Given the description of an element on the screen output the (x, y) to click on. 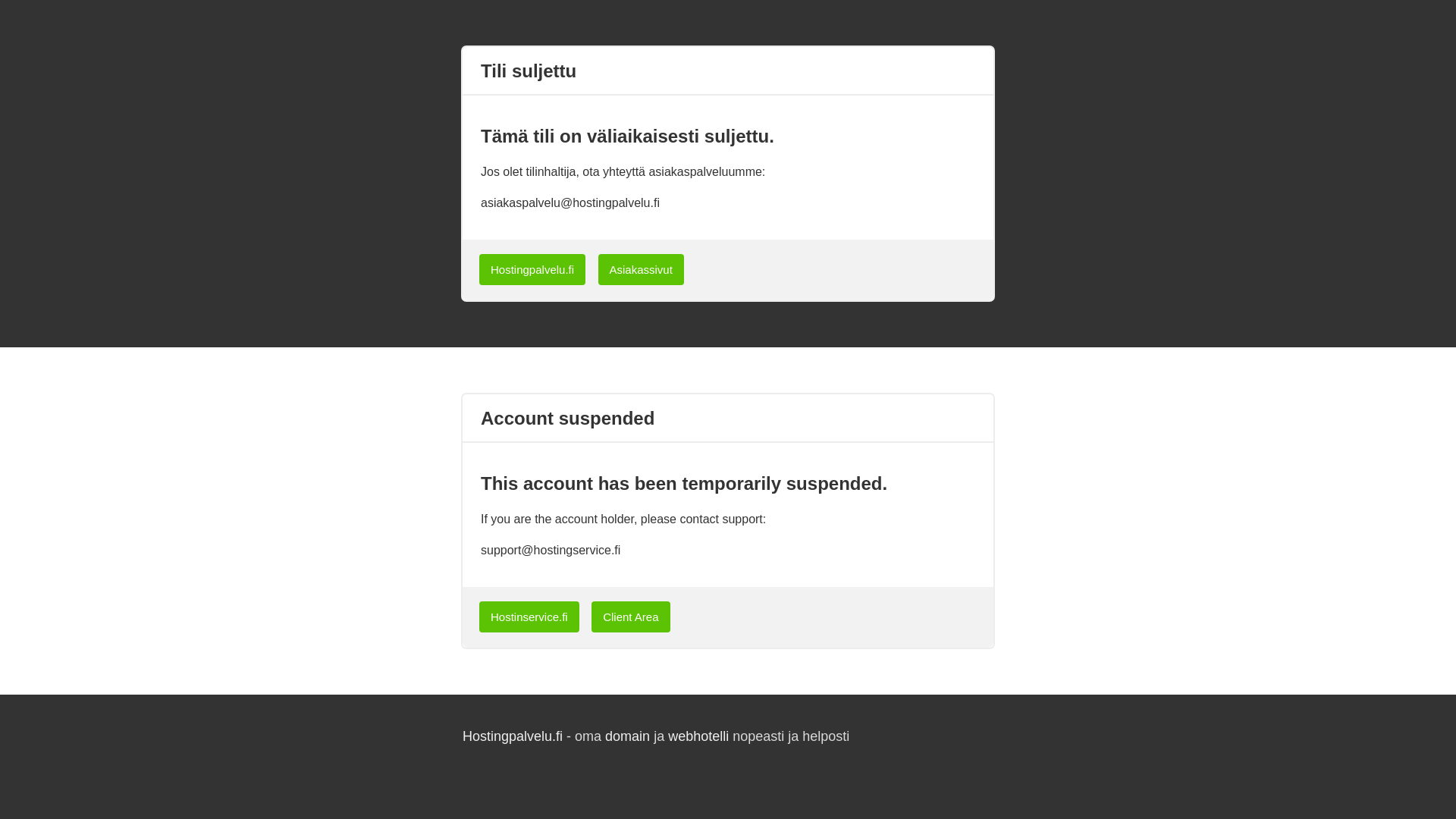
Client Area (630, 616)
domain (627, 735)
Client Area (630, 616)
Asiakassivut (641, 269)
Hostinservice.fi (528, 616)
Hostingpalvelu.fi (531, 269)
Hostingpalvelu.fi (512, 735)
webhotelli (698, 735)
Asiakassivut (641, 269)
Hostingpalvelu.fi (532, 269)
Hostinservice.fi (529, 616)
